Given the description of an element on the screen output the (x, y) to click on. 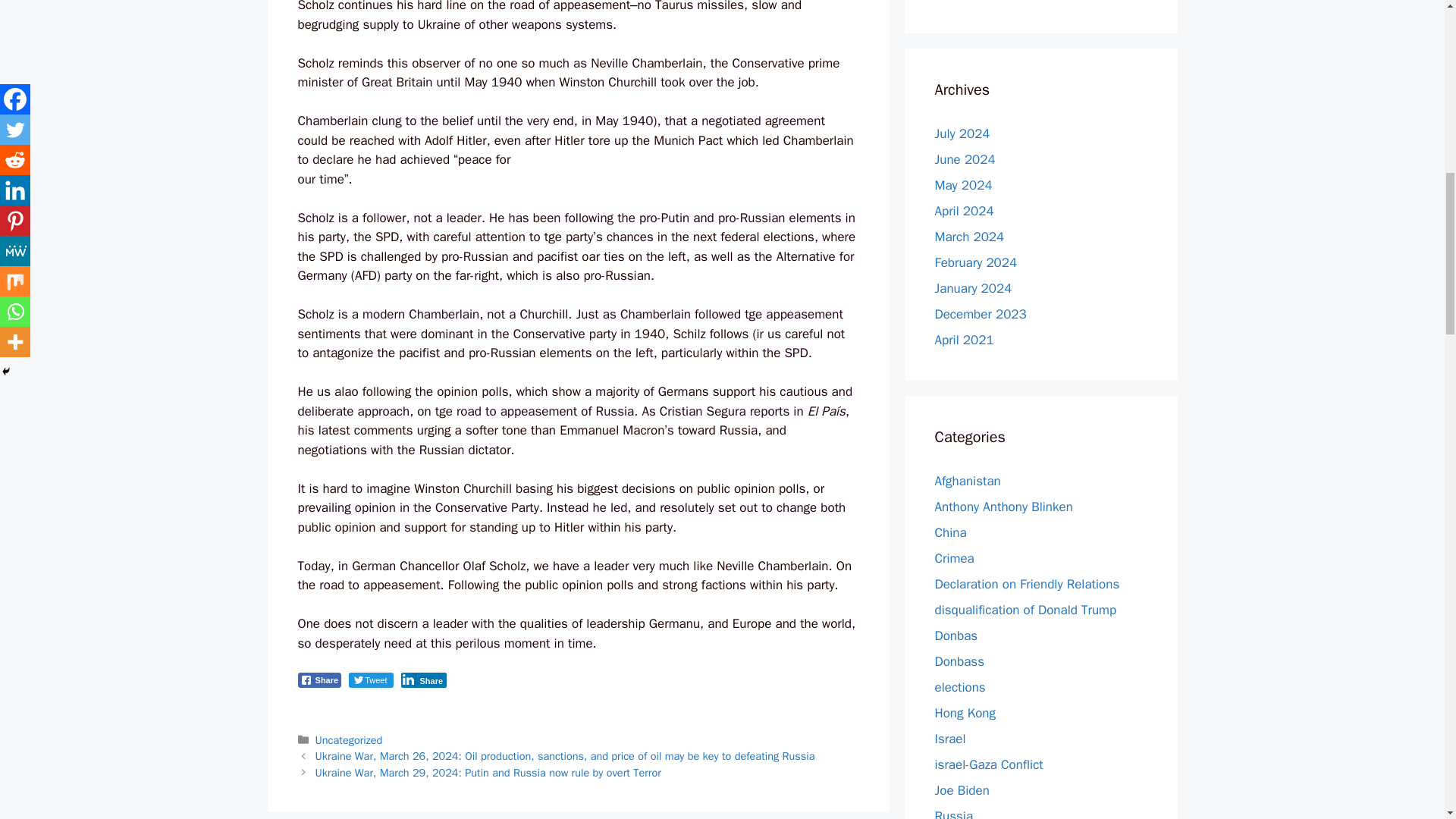
Uncategorized (348, 739)
Tweet (371, 679)
Share (423, 679)
Share (318, 679)
